Given the description of an element on the screen output the (x, y) to click on. 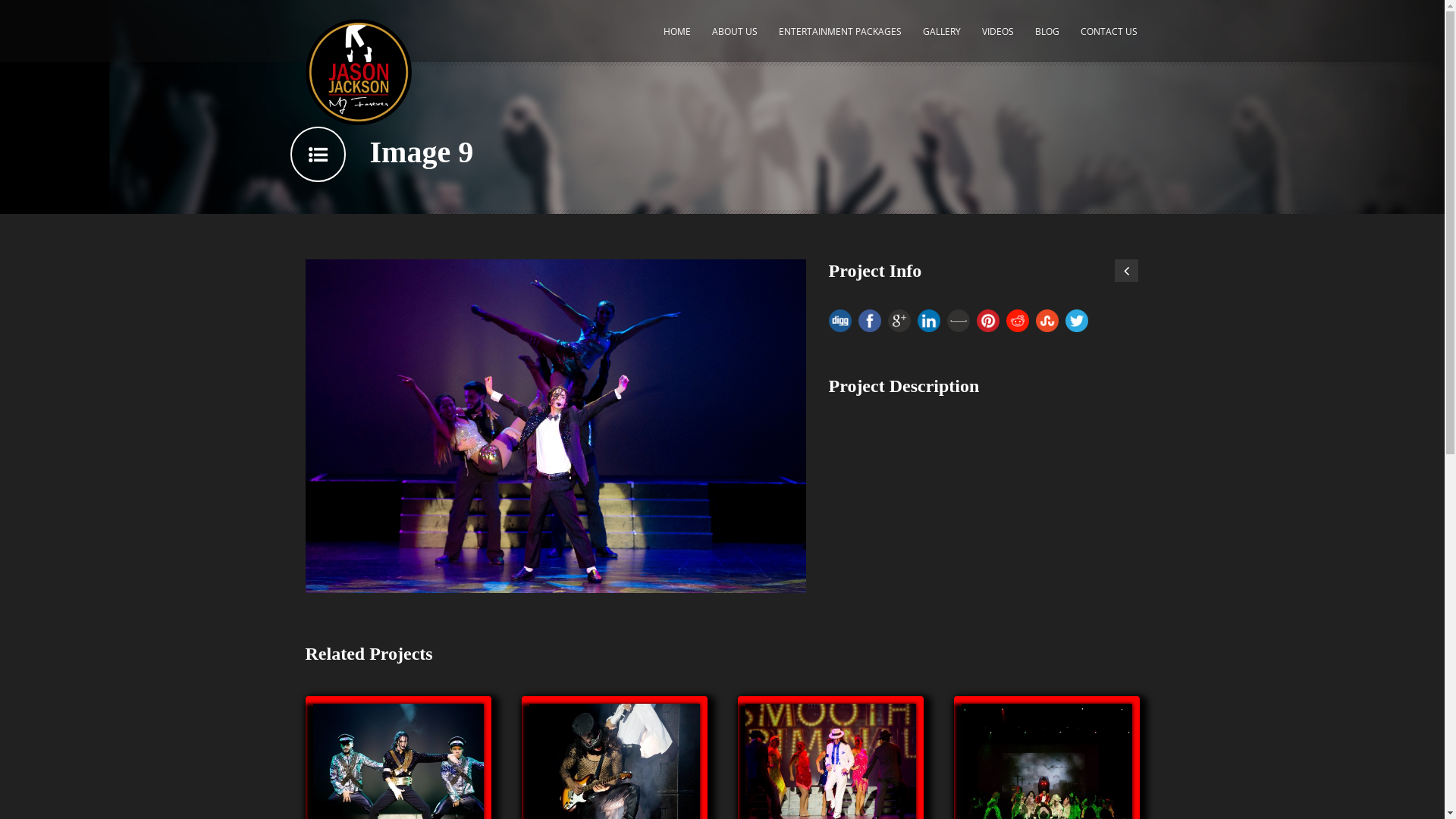
GALLERY Element type: text (941, 39)
ENTERTAINMENT PACKAGES Element type: text (840, 39)
VIDEOS Element type: text (997, 39)
ABOUT US Element type: text (734, 39)
BLOG Element type: text (1047, 39)
HOME Element type: text (676, 39)
CONTACT US Element type: text (1108, 39)
